Given the description of an element on the screen output the (x, y) to click on. 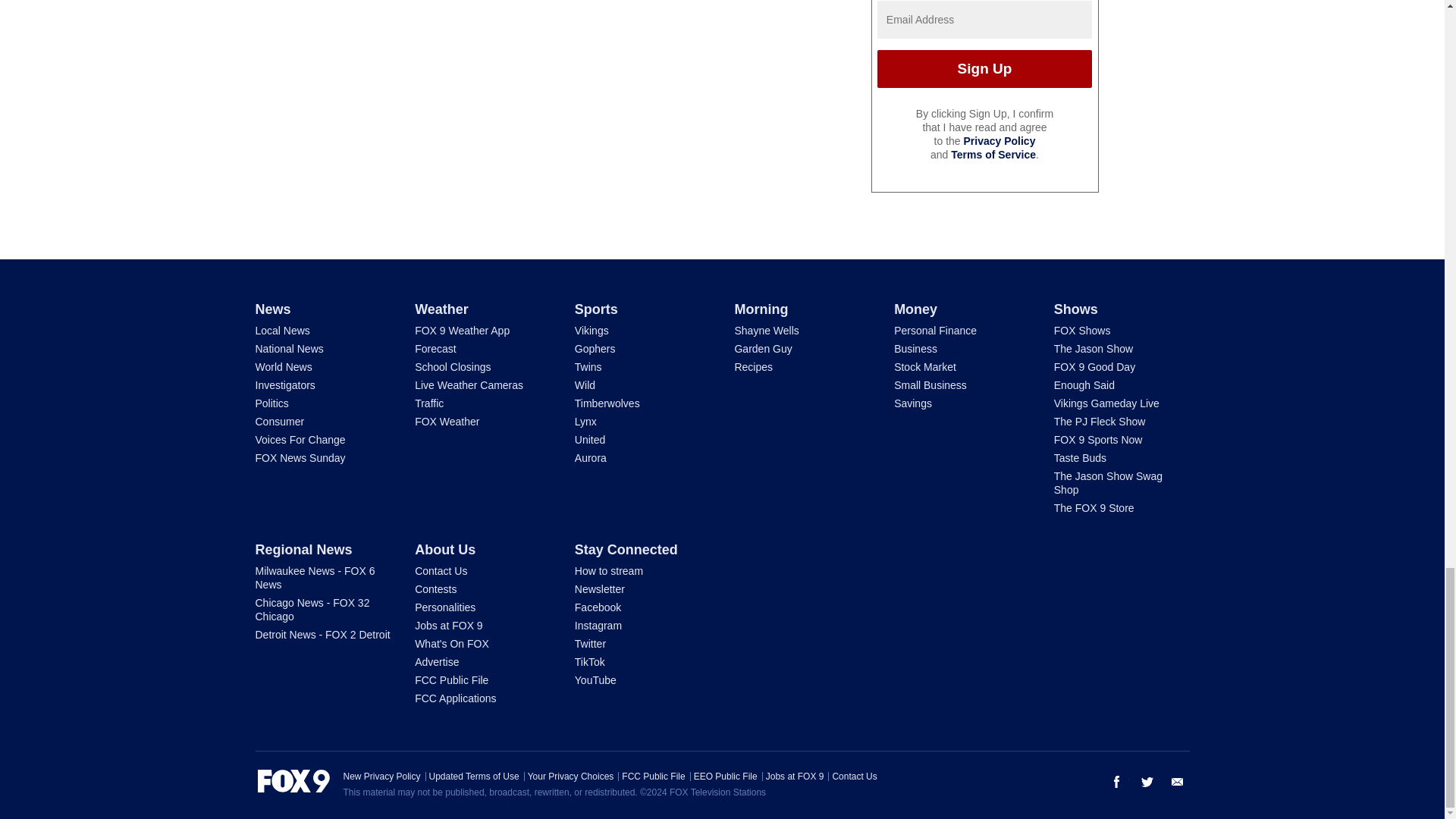
Sign Up (984, 68)
